Given the description of an element on the screen output the (x, y) to click on. 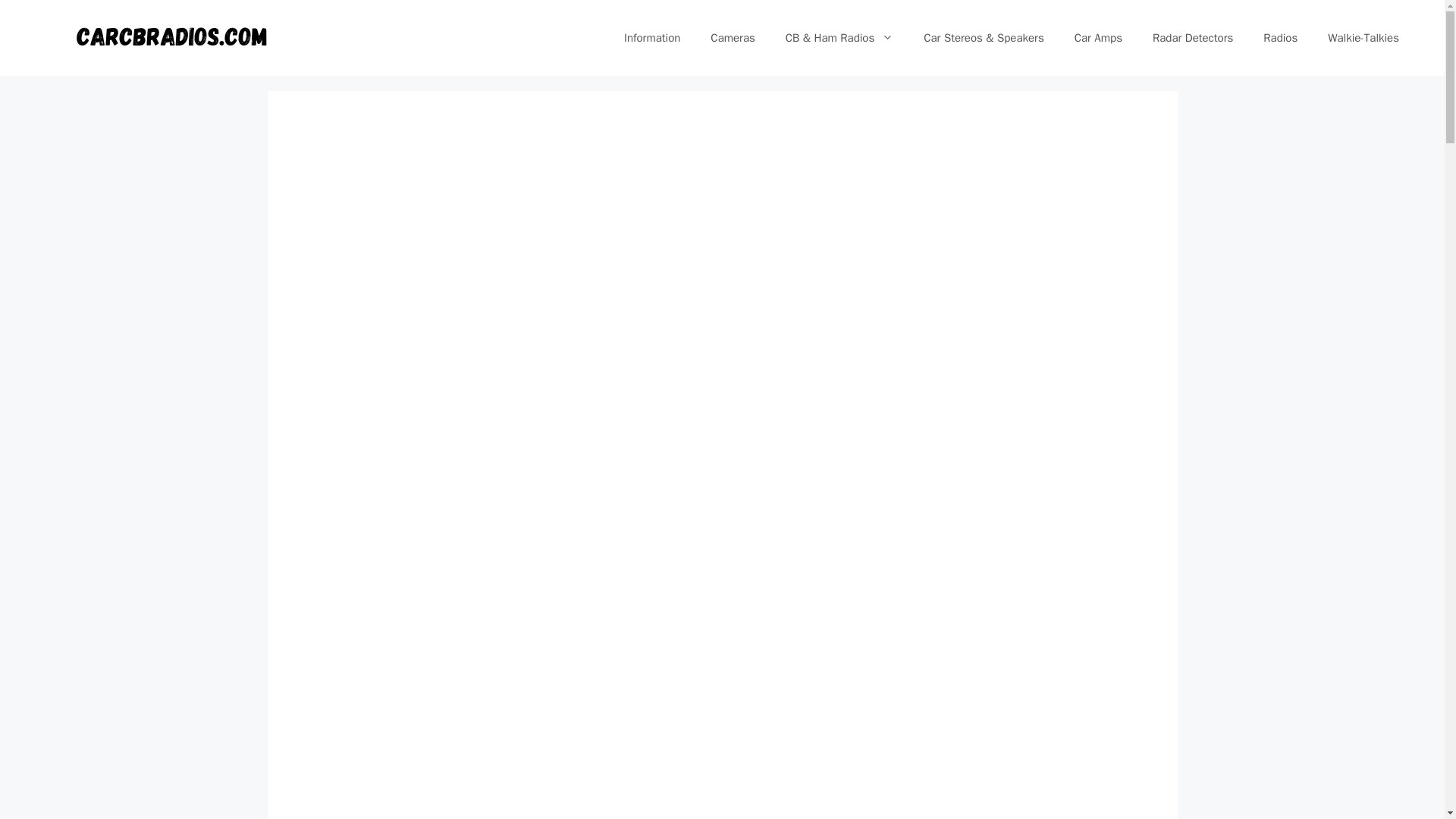
Car Amps (1098, 37)
Walkie-Talkies (1363, 37)
Cameras (732, 37)
Information (651, 37)
Radios (1280, 37)
Radar Detectors (1192, 37)
